Given the description of an element on the screen output the (x, y) to click on. 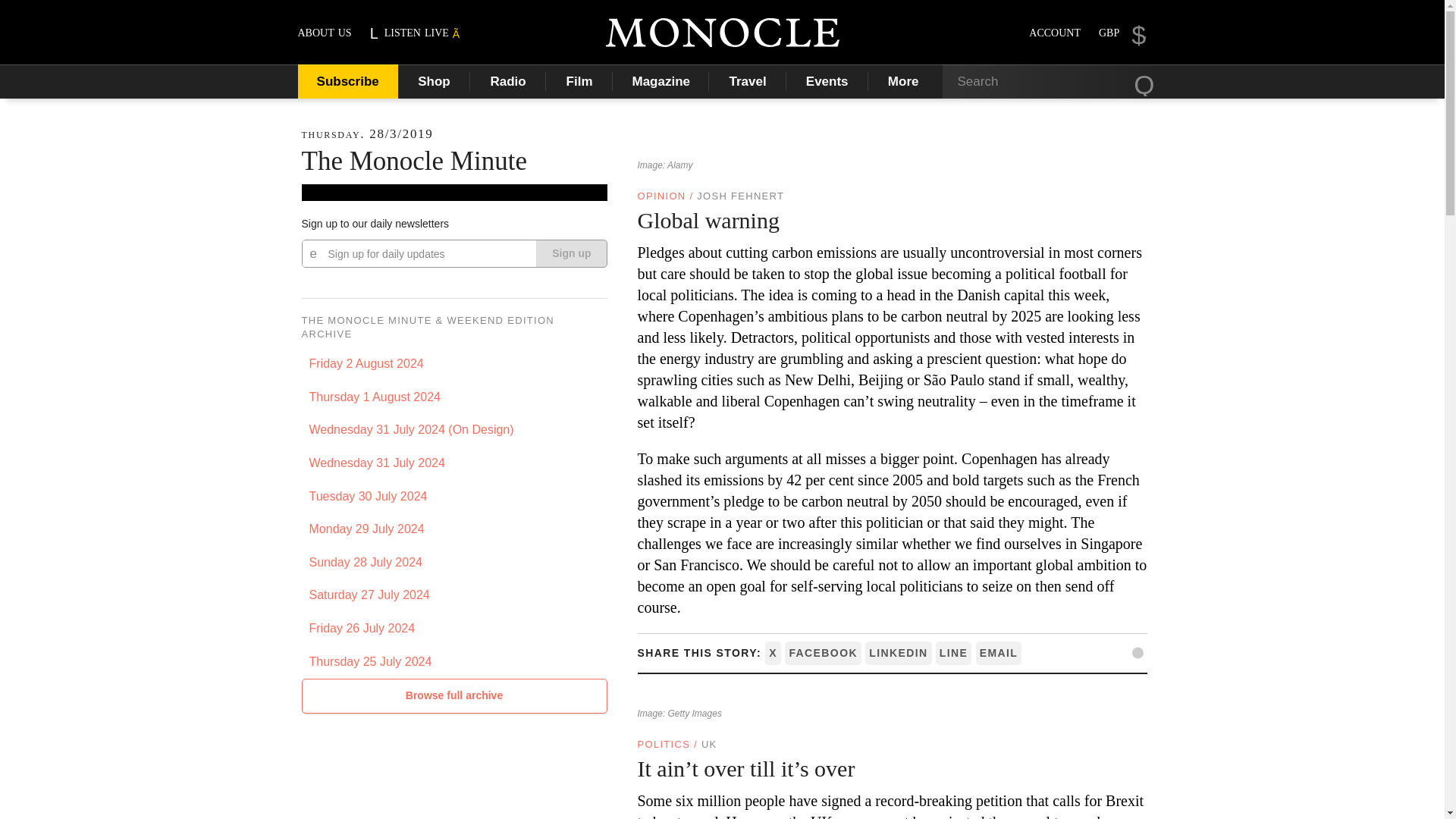
Events (827, 81)
Subscribe (347, 81)
Film (578, 81)
Subscribe (347, 81)
Radio (507, 81)
Magazine (660, 81)
Shop (433, 81)
Travel (747, 81)
More (905, 81)
Shop (433, 81)
L listen live (415, 31)
